Given the description of an element on the screen output the (x, y) to click on. 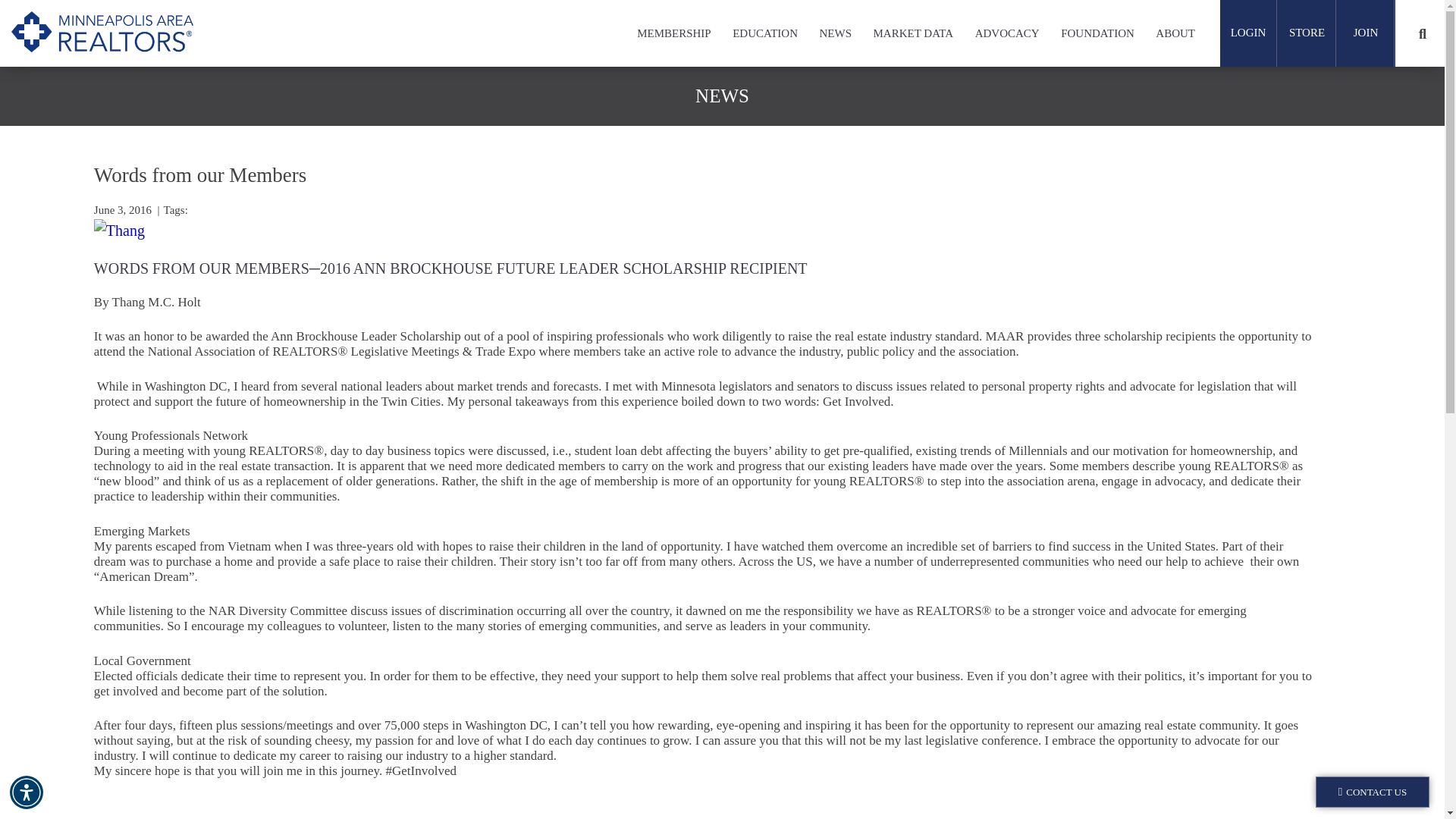
FOUNDATION (1097, 33)
ADVOCACY (1007, 33)
ABOUT (1175, 33)
Accessibility Menu (26, 792)
EDUCATION (764, 33)
MEMBERSHIP (674, 33)
MARKET DATA (913, 33)
NEWS (835, 33)
